Given the description of an element on the screen output the (x, y) to click on. 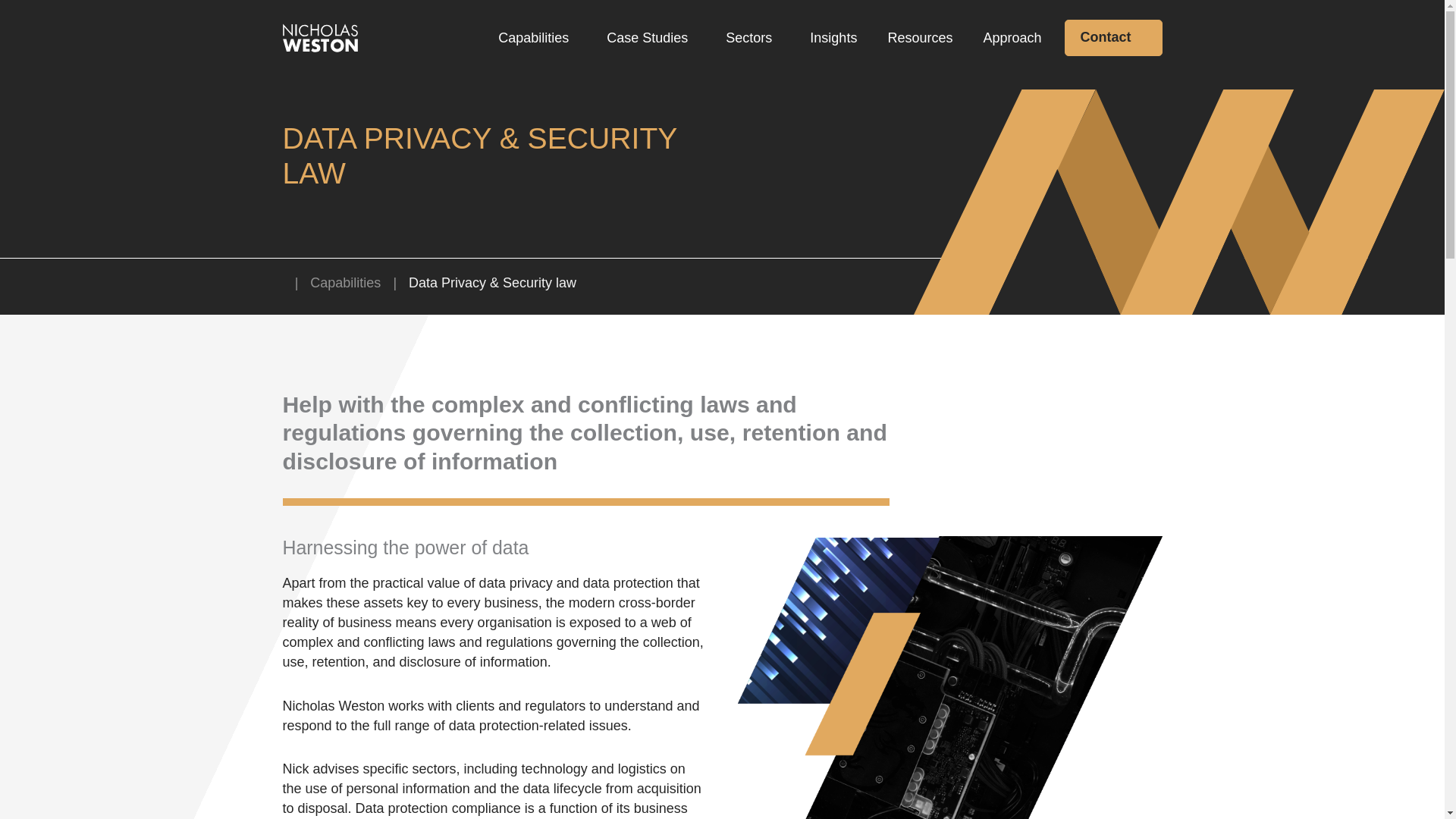
Approach (1012, 37)
Insights (833, 37)
Go to Capabilities. (345, 282)
Sectors (752, 37)
Case Studies (650, 37)
Capabilities (537, 37)
Resources (920, 37)
